Given the description of an element on the screen output the (x, y) to click on. 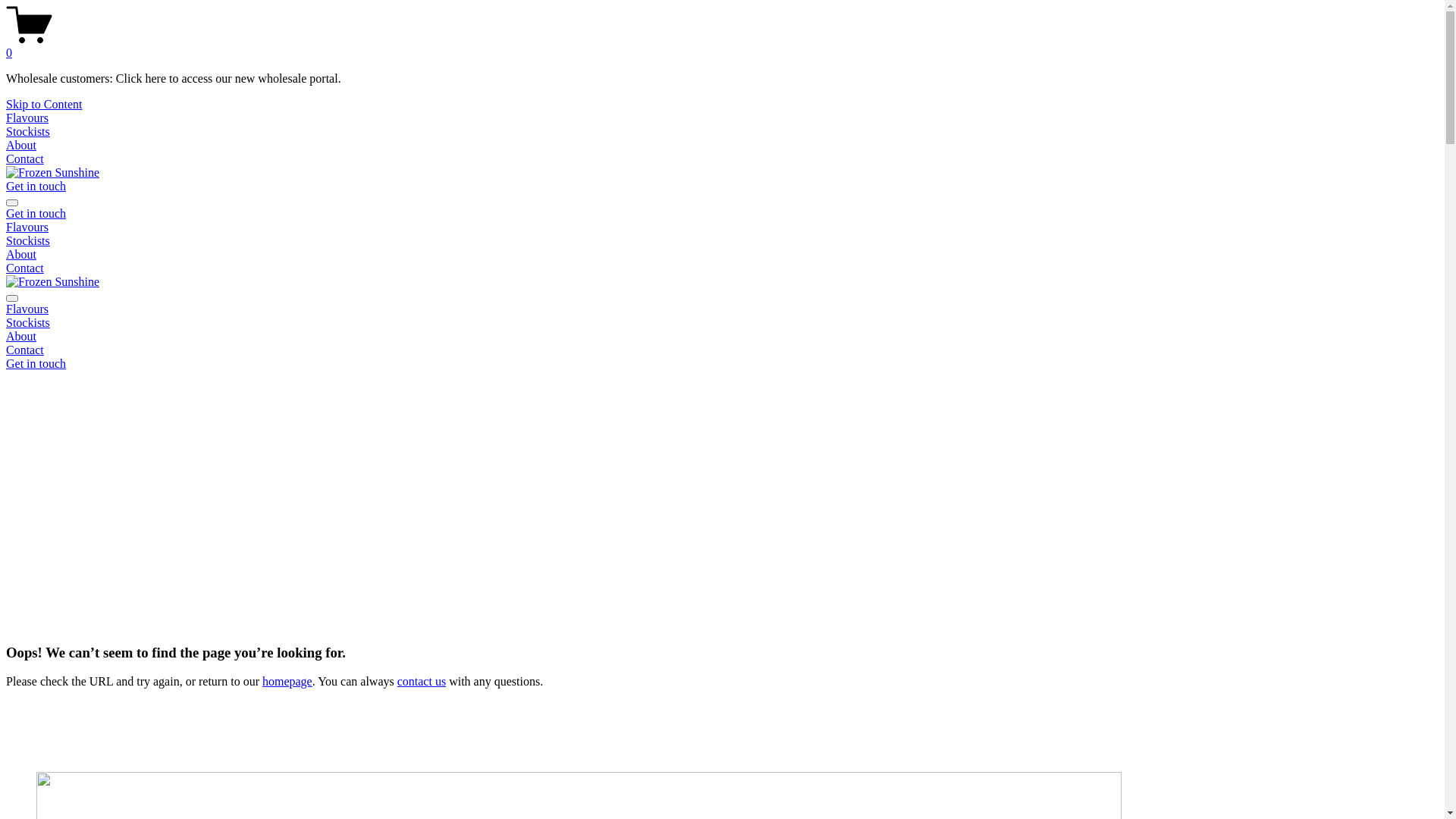
contact us Element type: text (421, 680)
Stockists Element type: text (722, 322)
About Element type: text (21, 253)
Flavours Element type: text (722, 309)
Flavours Element type: text (27, 117)
Get in touch Element type: text (35, 185)
Skip to Content Element type: text (43, 103)
Stockists Element type: text (28, 131)
Get in touch Element type: text (35, 363)
Contact Element type: text (24, 158)
Contact Element type: text (722, 350)
Flavours Element type: text (27, 226)
Stockists Element type: text (28, 240)
0 Element type: text (722, 45)
About Element type: text (21, 144)
About Element type: text (722, 336)
homepage Element type: text (287, 680)
Get in touch Element type: text (35, 213)
Contact Element type: text (24, 267)
